Given the description of an element on the screen output the (x, y) to click on. 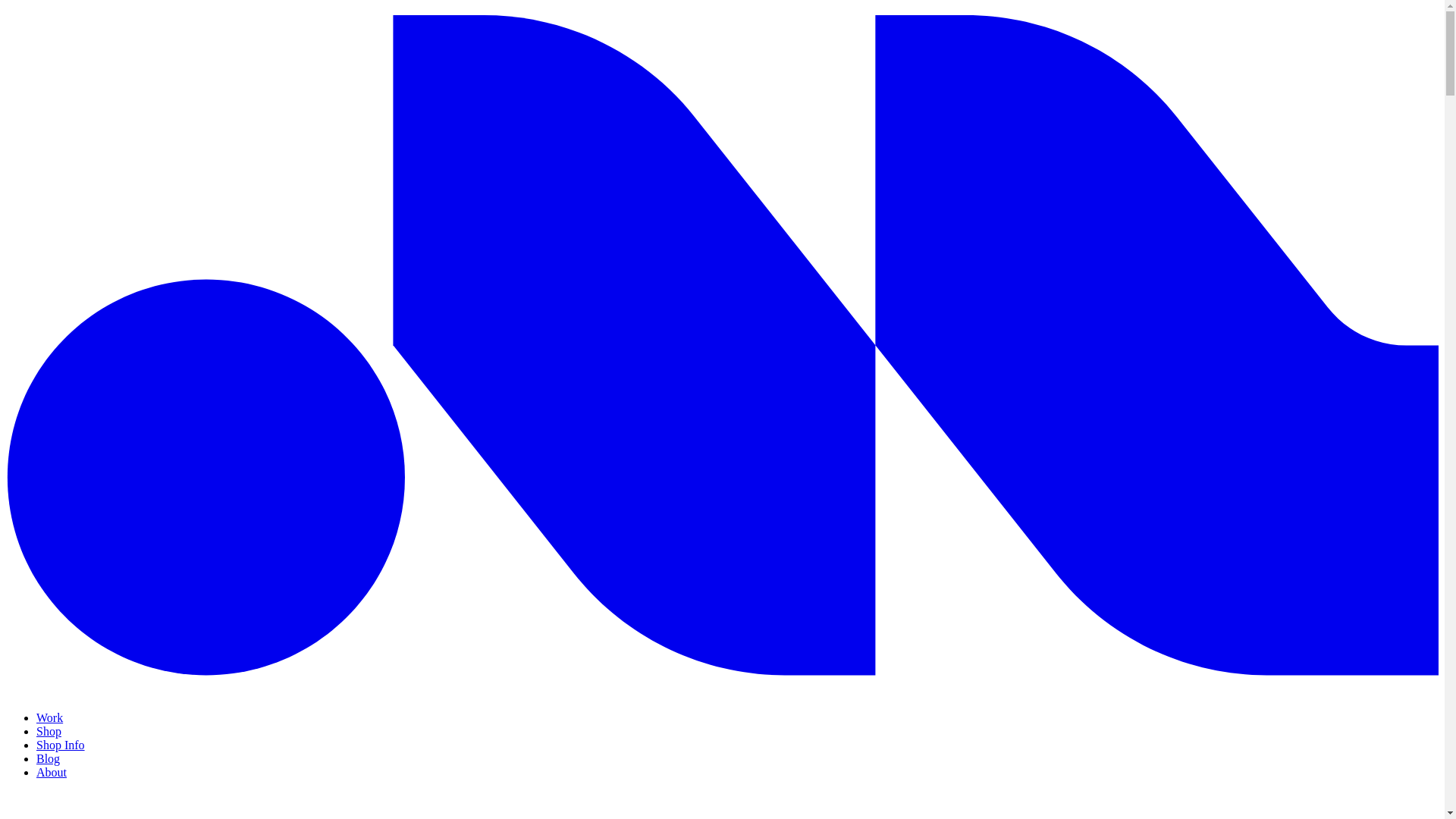
Blog (47, 758)
Shop (48, 730)
Work (49, 717)
Shop Info (60, 744)
About (51, 771)
